Given the description of an element on the screen output the (x, y) to click on. 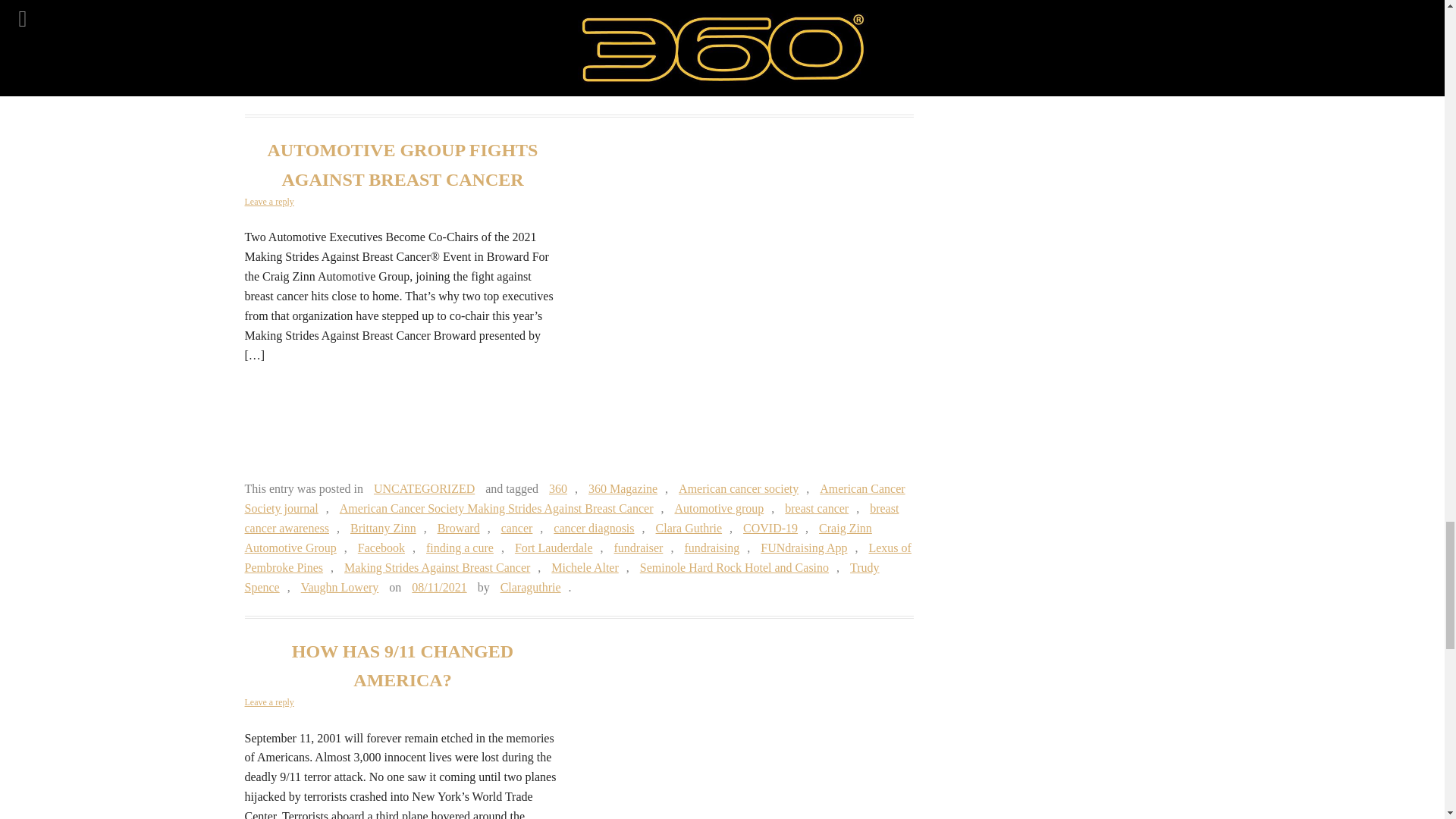
2:54 pm (439, 586)
View all posts by 360 MAGAZINE (683, 85)
10:17 pm (579, 85)
View all posts by Claraguthrie (531, 586)
